Given the description of an element on the screen output the (x, y) to click on. 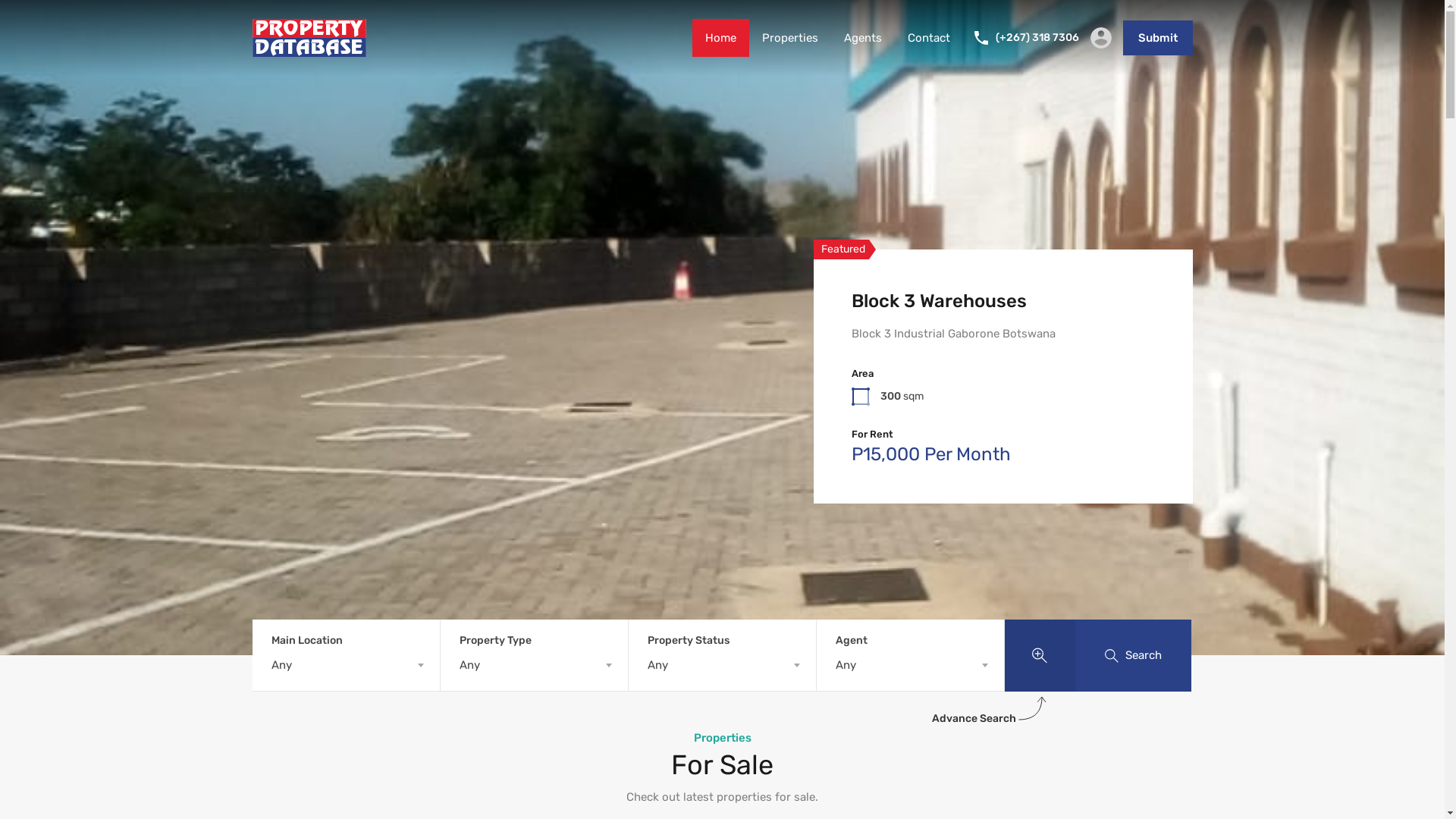
Properties Element type: text (790, 37)
Block 3 Warehouses Element type: text (938, 300)
Property Database Element type: hover (308, 49)
Submit Element type: text (1157, 37)
Home Element type: text (719, 37)
Agents Element type: text (862, 37)
(+267) 318 7306 Element type: text (1036, 37)
Contact Element type: text (928, 37)
